Given the description of an element on the screen output the (x, y) to click on. 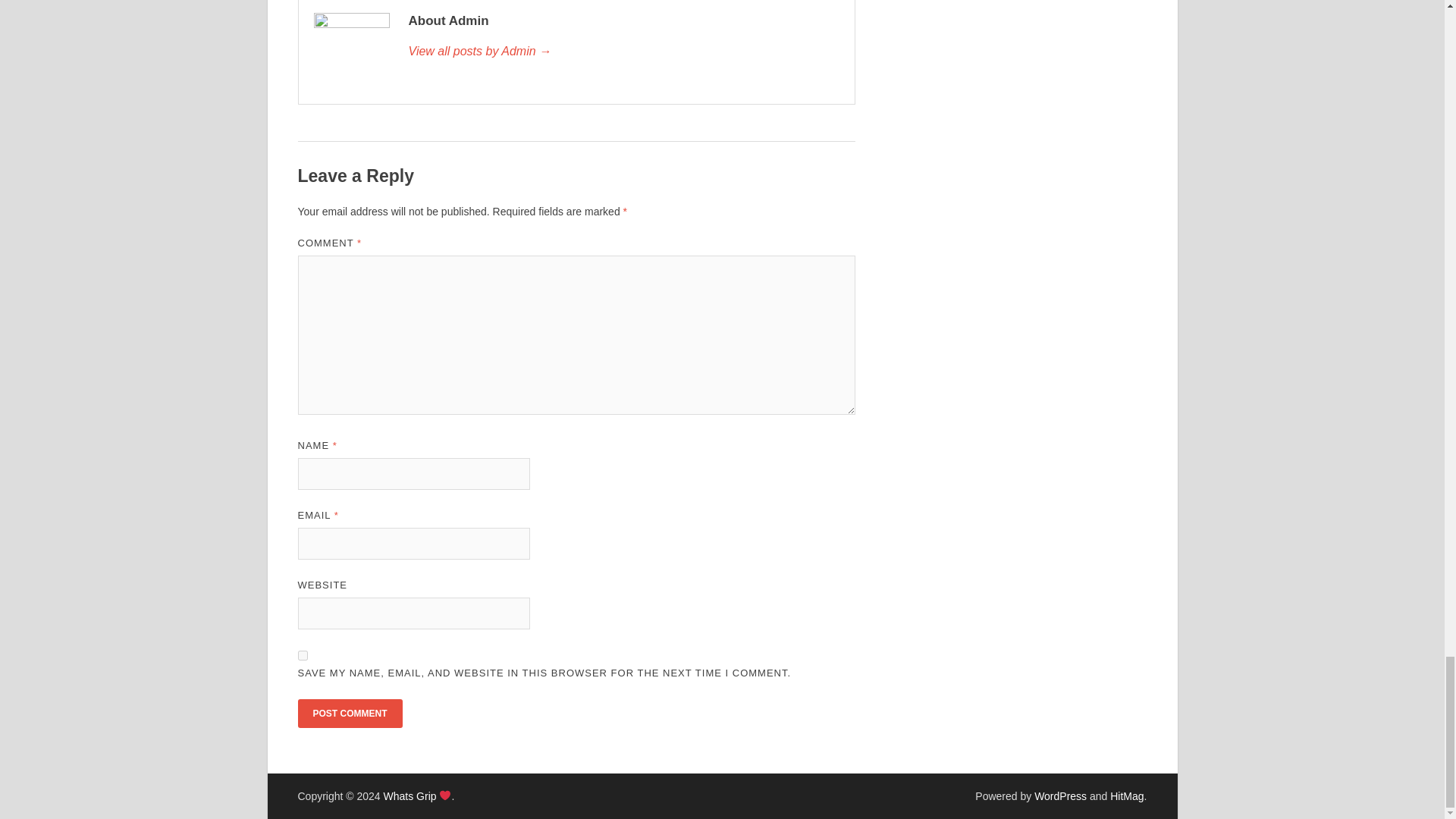
yes (302, 655)
Admin (622, 51)
HitMag WordPress Theme (1125, 796)
WordPress (1059, 796)
Post Comment (349, 713)
Post Comment (349, 713)
